Given the description of an element on the screen output the (x, y) to click on. 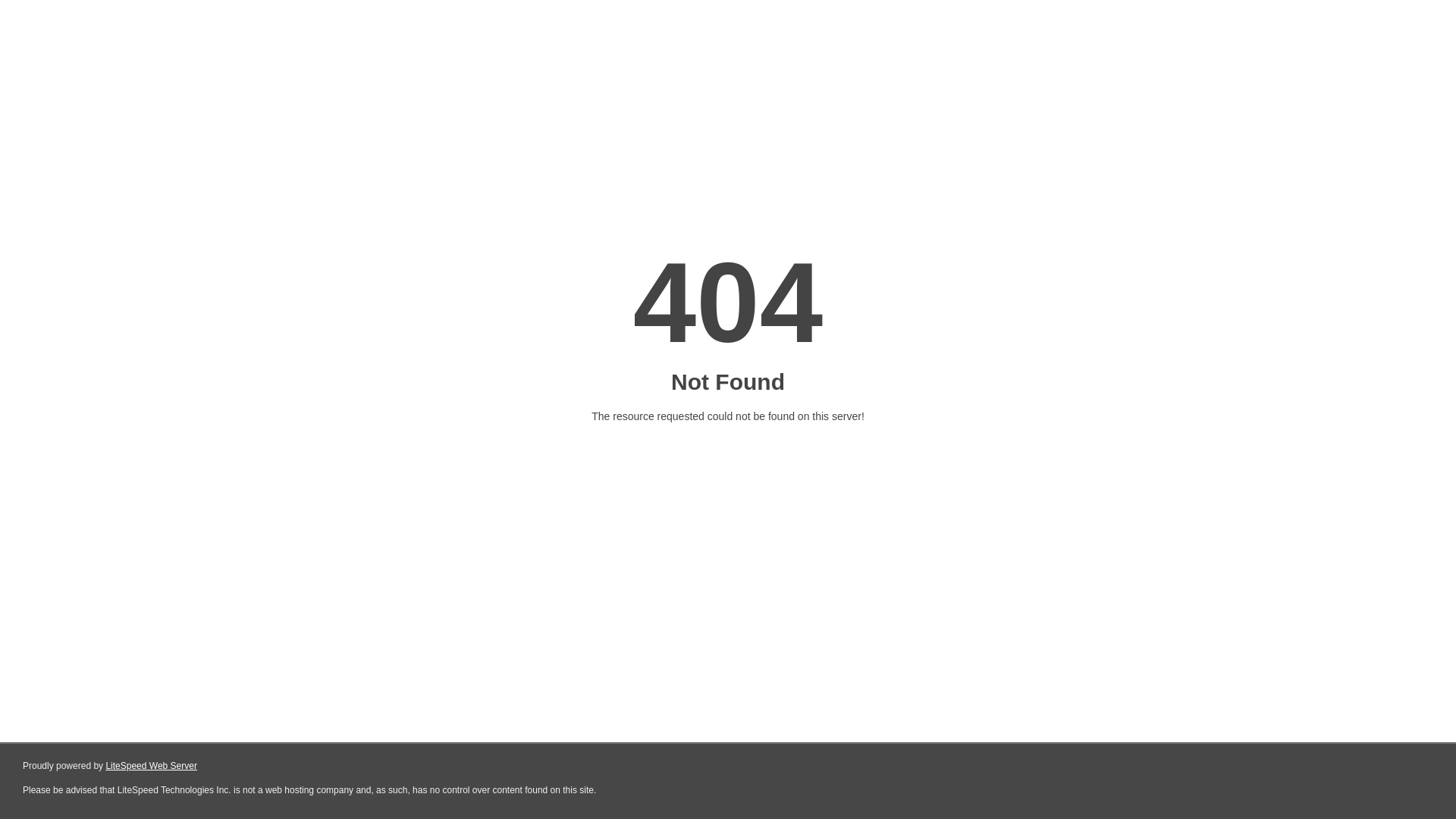
LiteSpeed Web Server (150, 765)
